Given the description of an element on the screen output the (x, y) to click on. 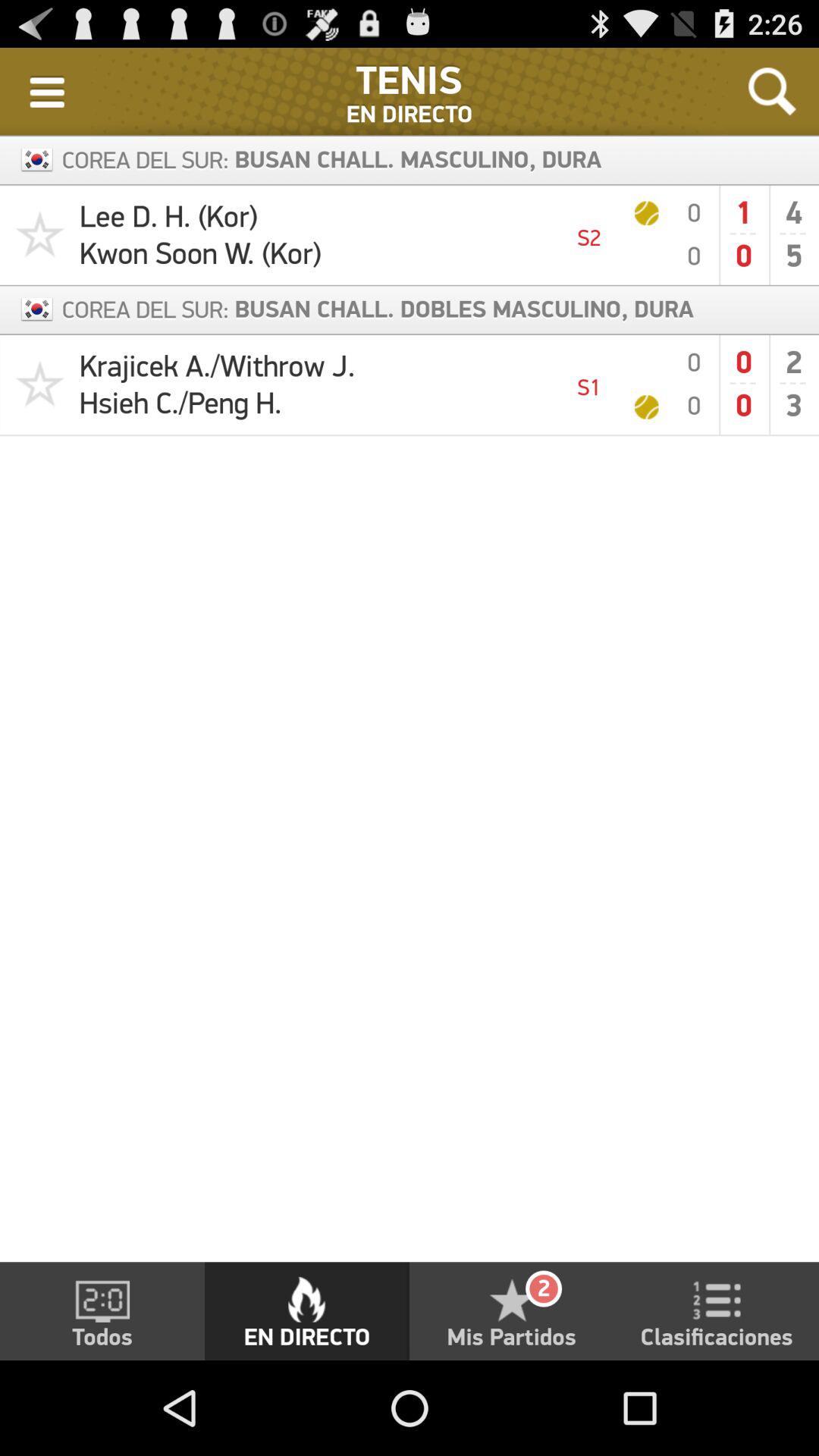
turn on the item to the left of the :  icon (46, 91)
